Given the description of an element on the screen output the (x, y) to click on. 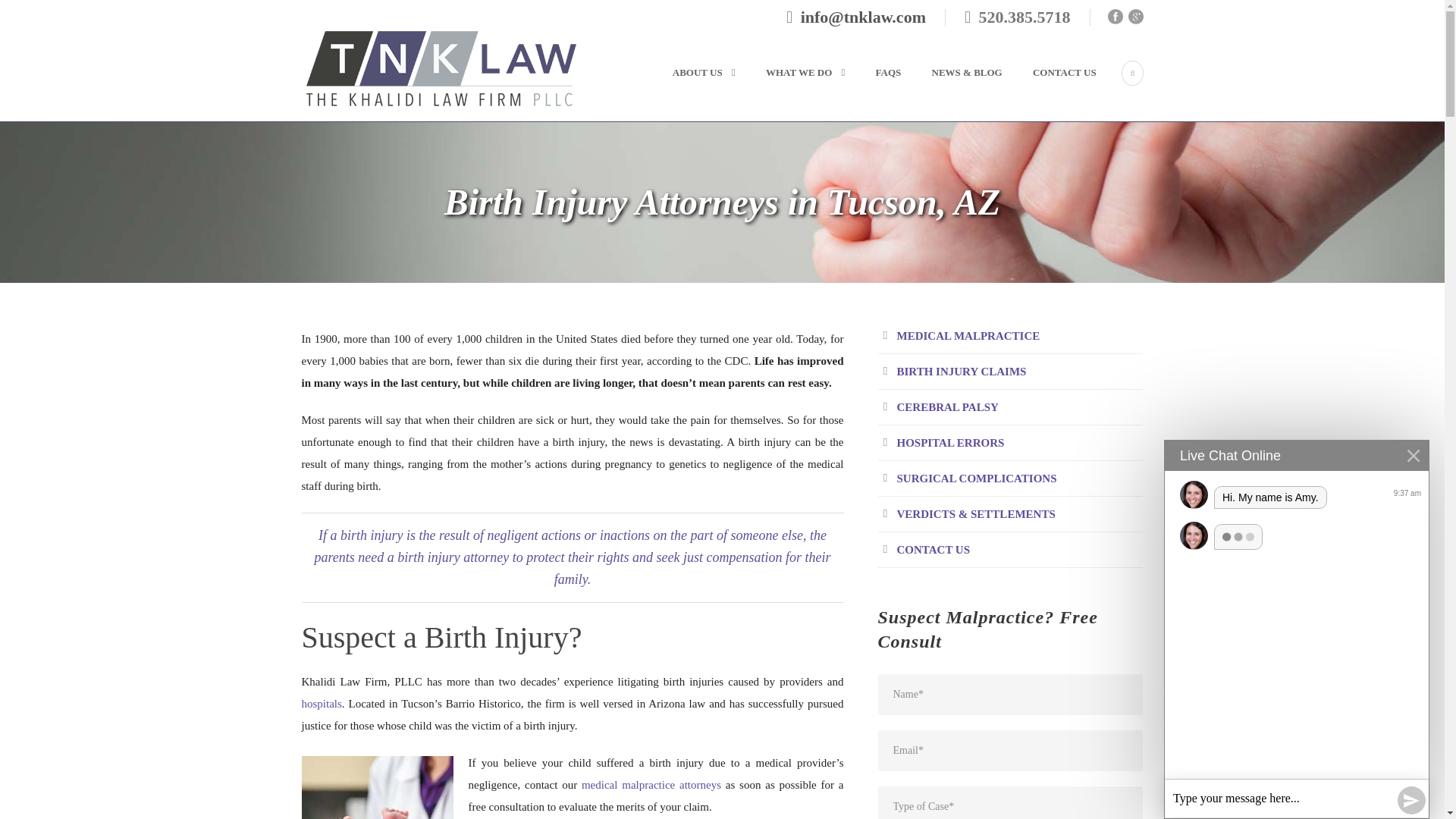
ABOUT US (699, 90)
WHAT WE DO (790, 90)
